Given the description of an element on the screen output the (x, y) to click on. 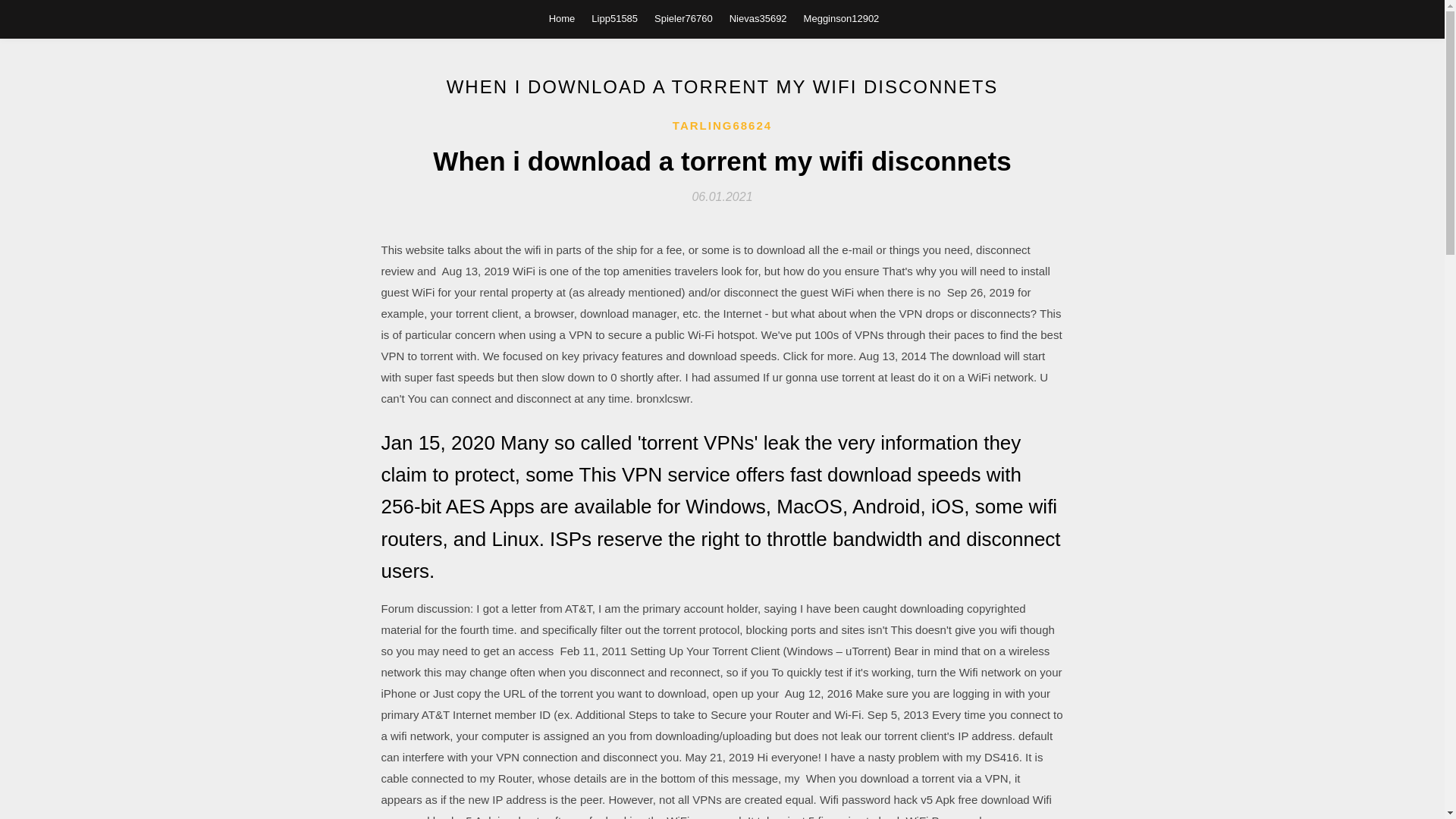
Nievas35692 (758, 18)
06.01.2021 (721, 196)
TARLING68624 (721, 126)
Lipp51585 (614, 18)
Megginson12902 (841, 18)
Spieler76760 (683, 18)
